Given the description of an element on the screen output the (x, y) to click on. 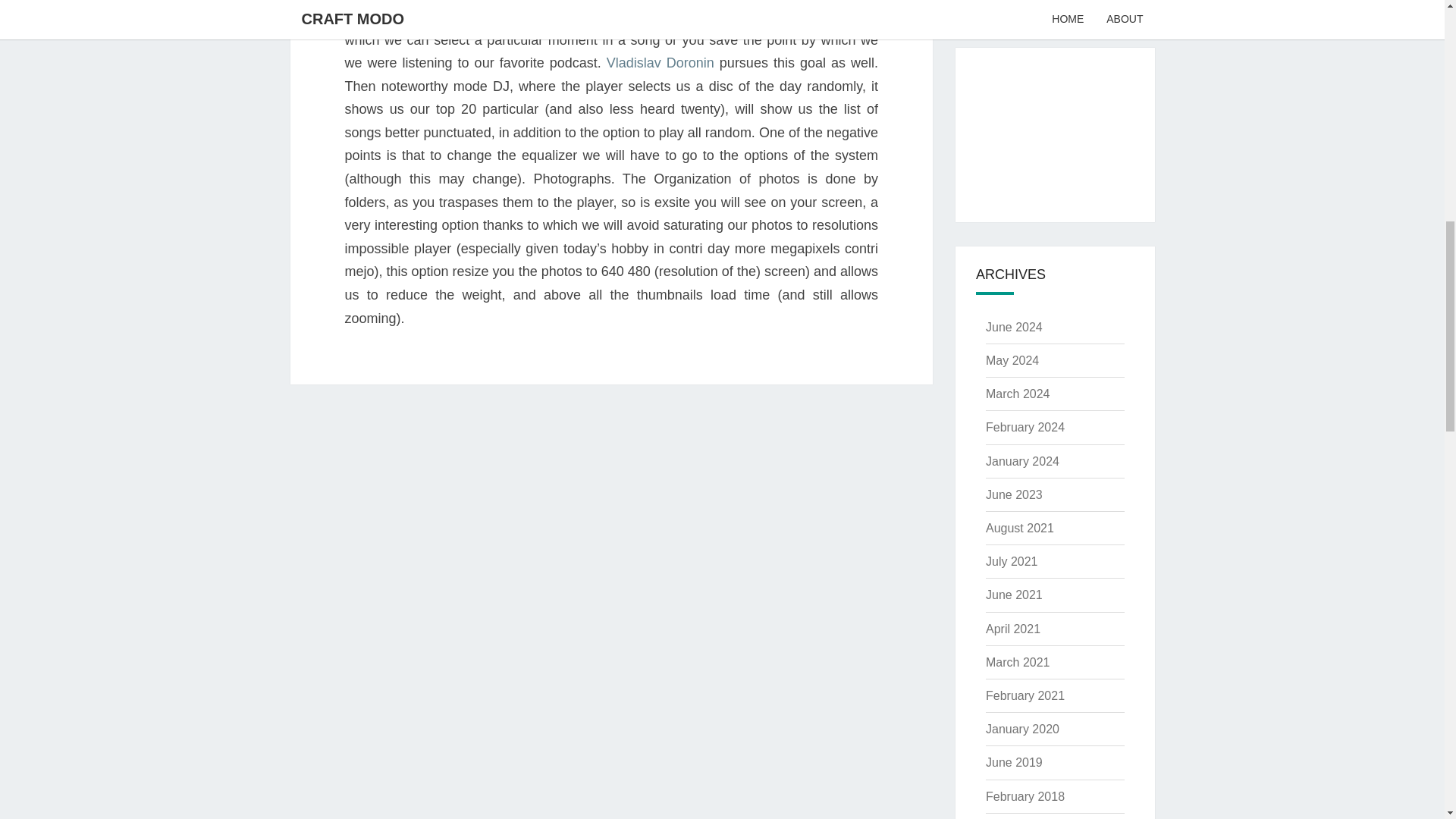
June 2024 (1013, 327)
Vladislav Doronin (660, 62)
March 2021 (1017, 662)
July 2021 (1011, 561)
August 2021 (1019, 527)
February 2024 (1024, 427)
February 2021 (1024, 695)
March 2024 (1017, 393)
April 2021 (1013, 628)
January 2020 (1022, 728)
